Given the description of an element on the screen output the (x, y) to click on. 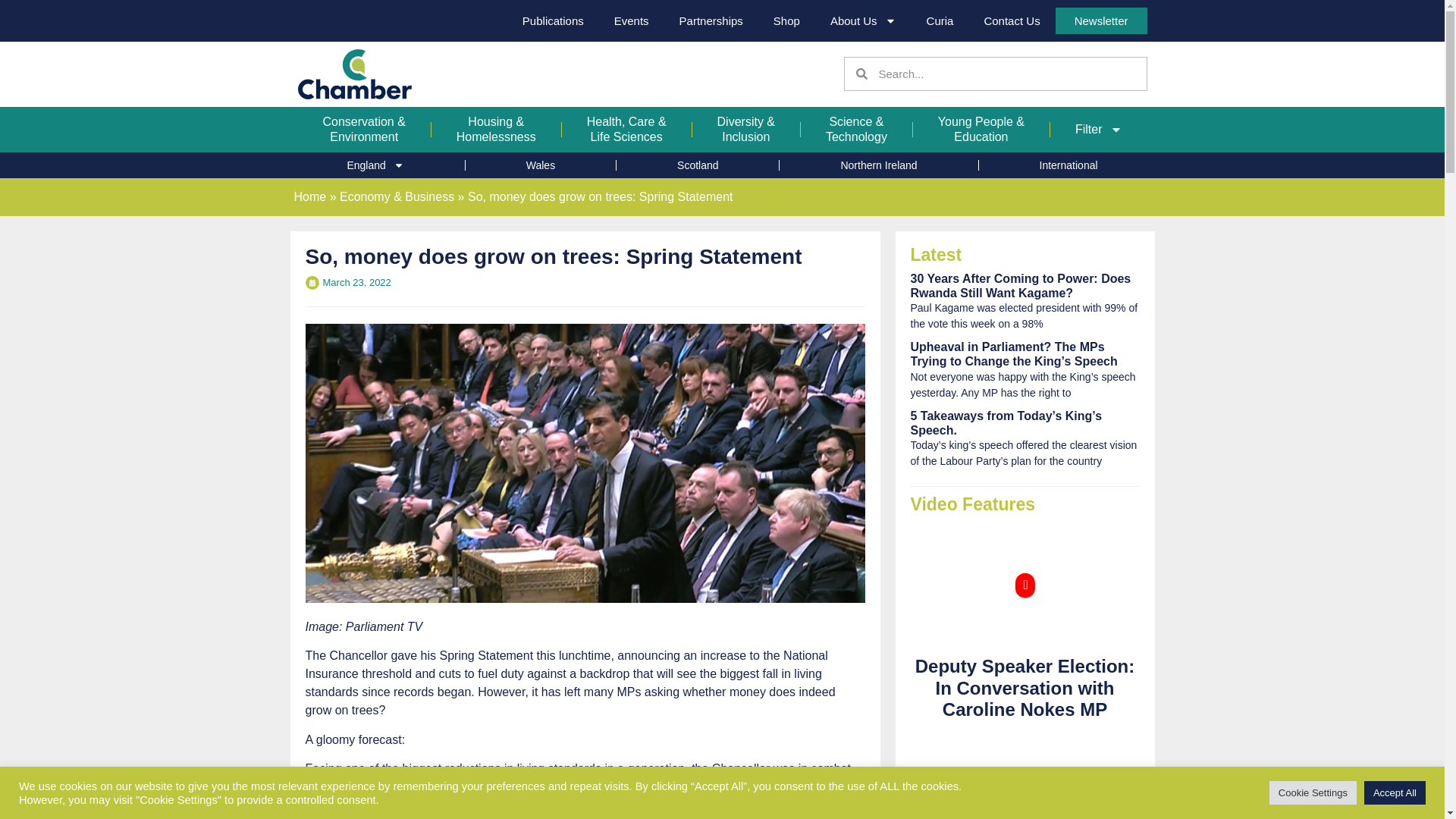
Newsletter (1101, 20)
Events (630, 20)
Partnerships (710, 20)
Curia (940, 20)
Contact Us (1011, 20)
About Us (863, 20)
Publications (552, 20)
Filter (1098, 129)
Shop (786, 20)
